Given the description of an element on the screen output the (x, y) to click on. 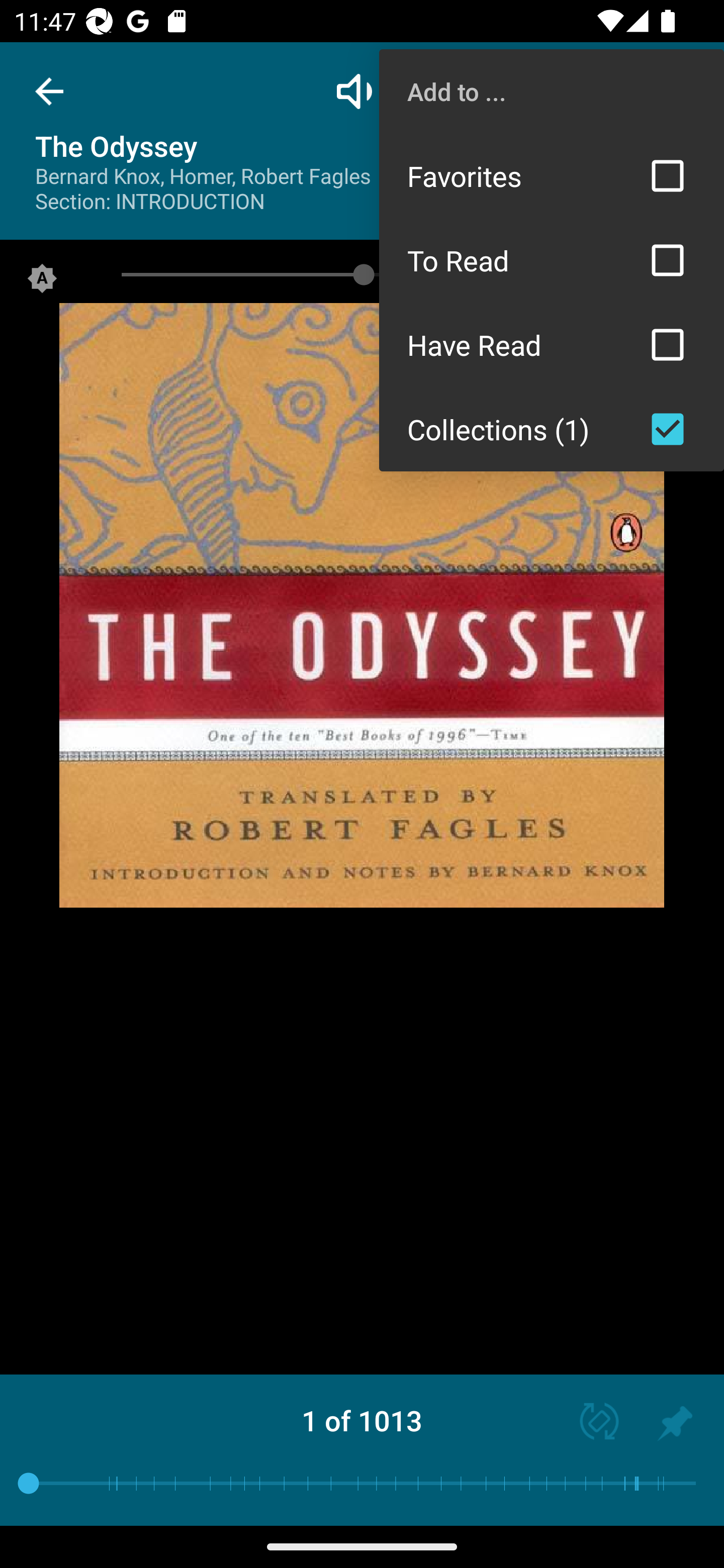
Favorites (551, 175)
To Read (551, 259)
Have Read (551, 344)
Collections (1) (551, 429)
